Given the description of an element on the screen output the (x, y) to click on. 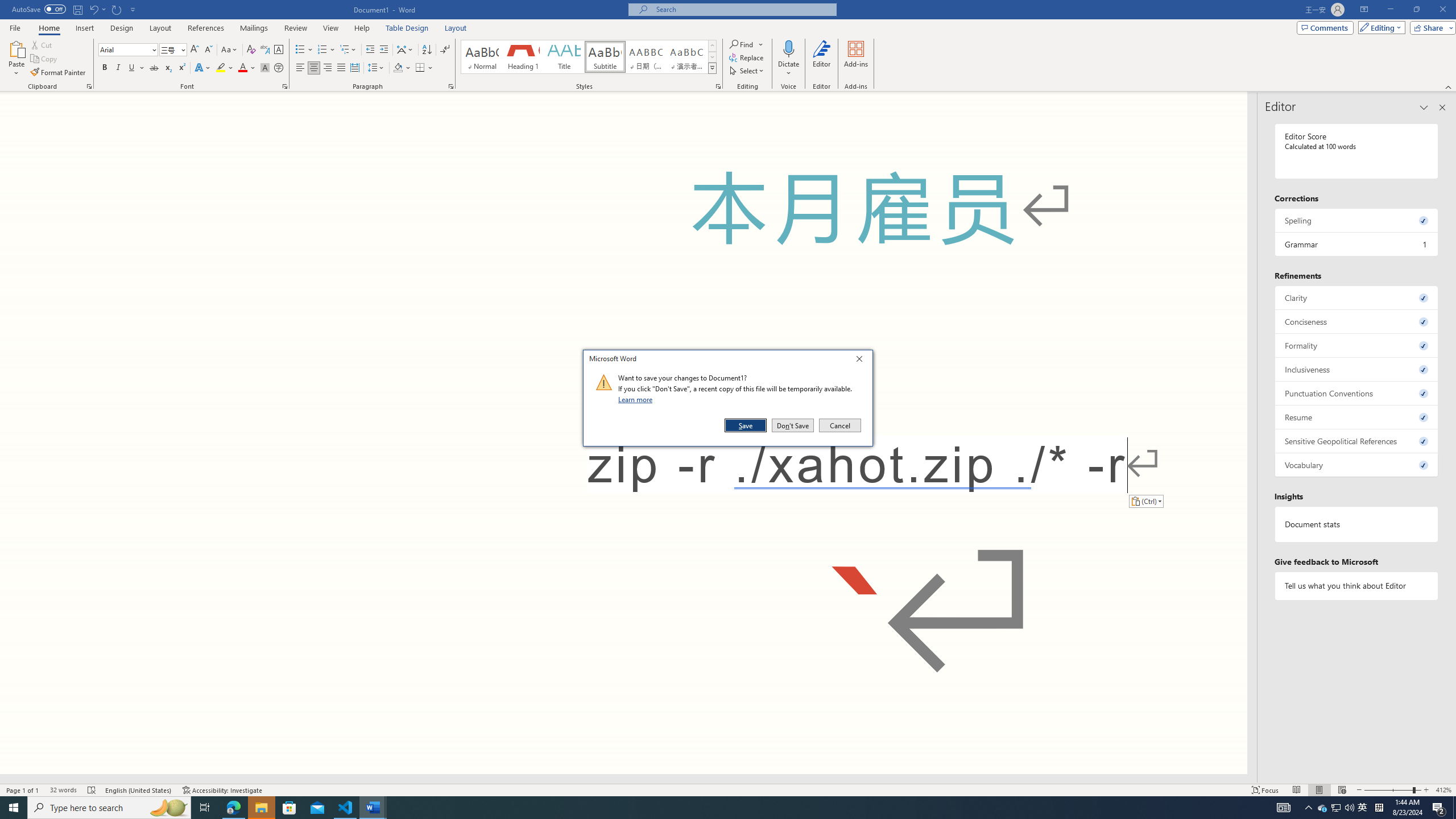
Action: Paste alternatives (1145, 500)
